Given the description of an element on the screen output the (x, y) to click on. 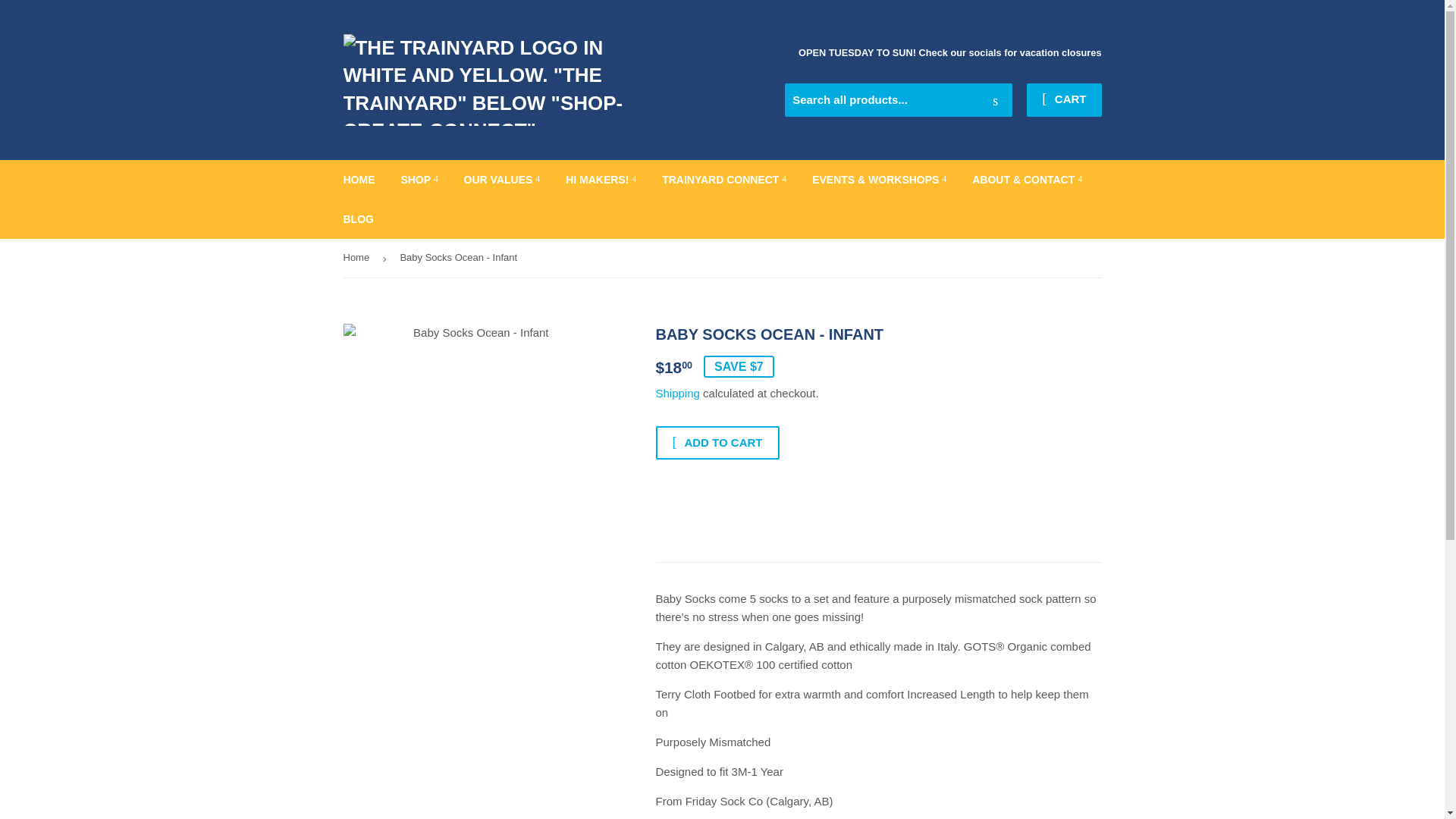
OPEN TUESDAY TO SUN! Check our socials for vacation closures (948, 52)
Search (994, 101)
CART (1063, 100)
